Given the description of an element on the screen output the (x, y) to click on. 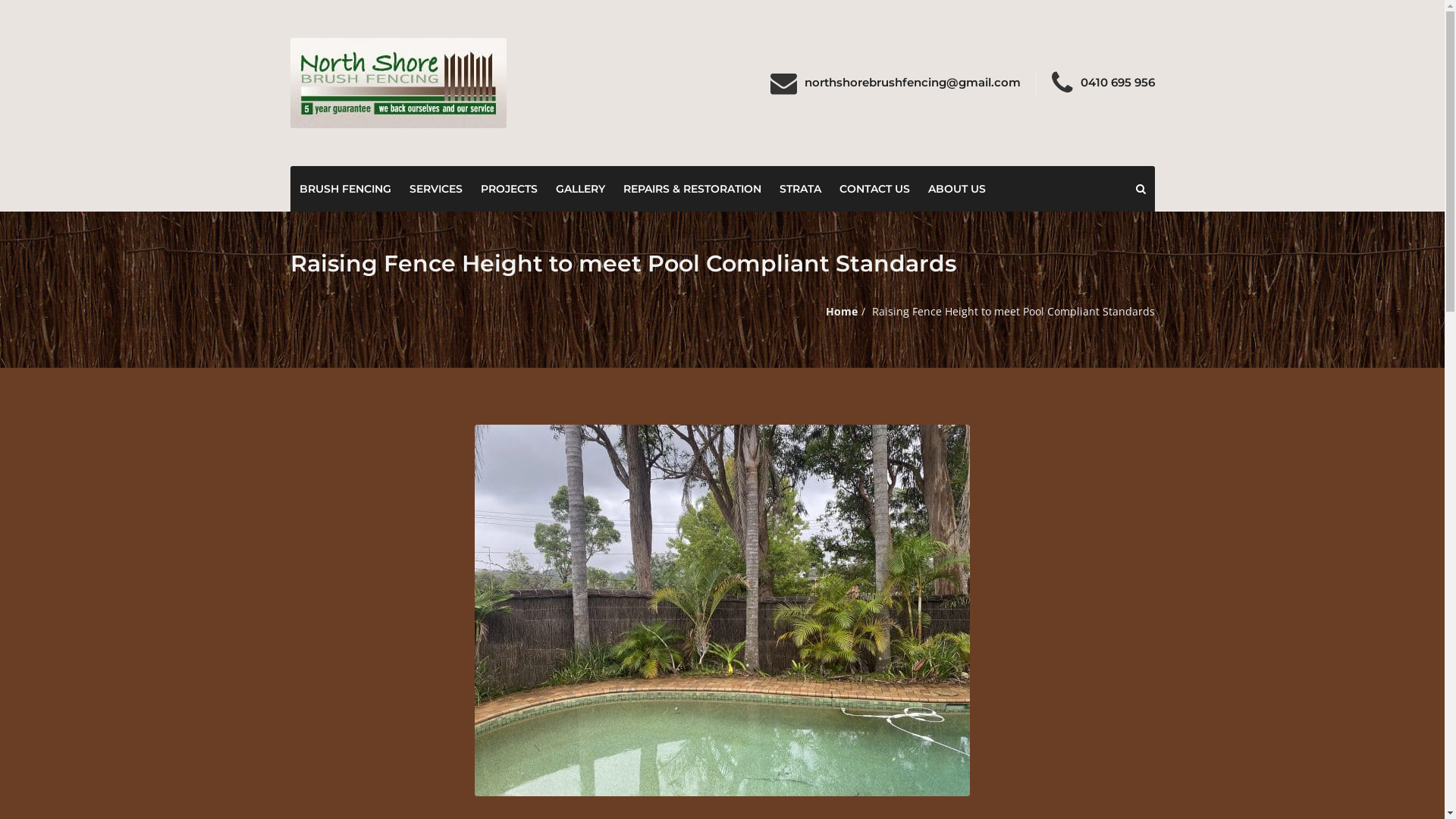
Home Element type: text (840, 310)
SERVICES Element type: text (435, 188)
CONTACT US Element type: text (873, 188)
BRUSH FENCING Element type: text (344, 188)
GALLERY Element type: text (579, 188)
PROJECTS Element type: text (508, 188)
STRATA Element type: text (800, 188)
REPAIRS & RESTORATION Element type: text (692, 188)
ABOUT US Element type: text (956, 188)
